Given the description of an element on the screen output the (x, y) to click on. 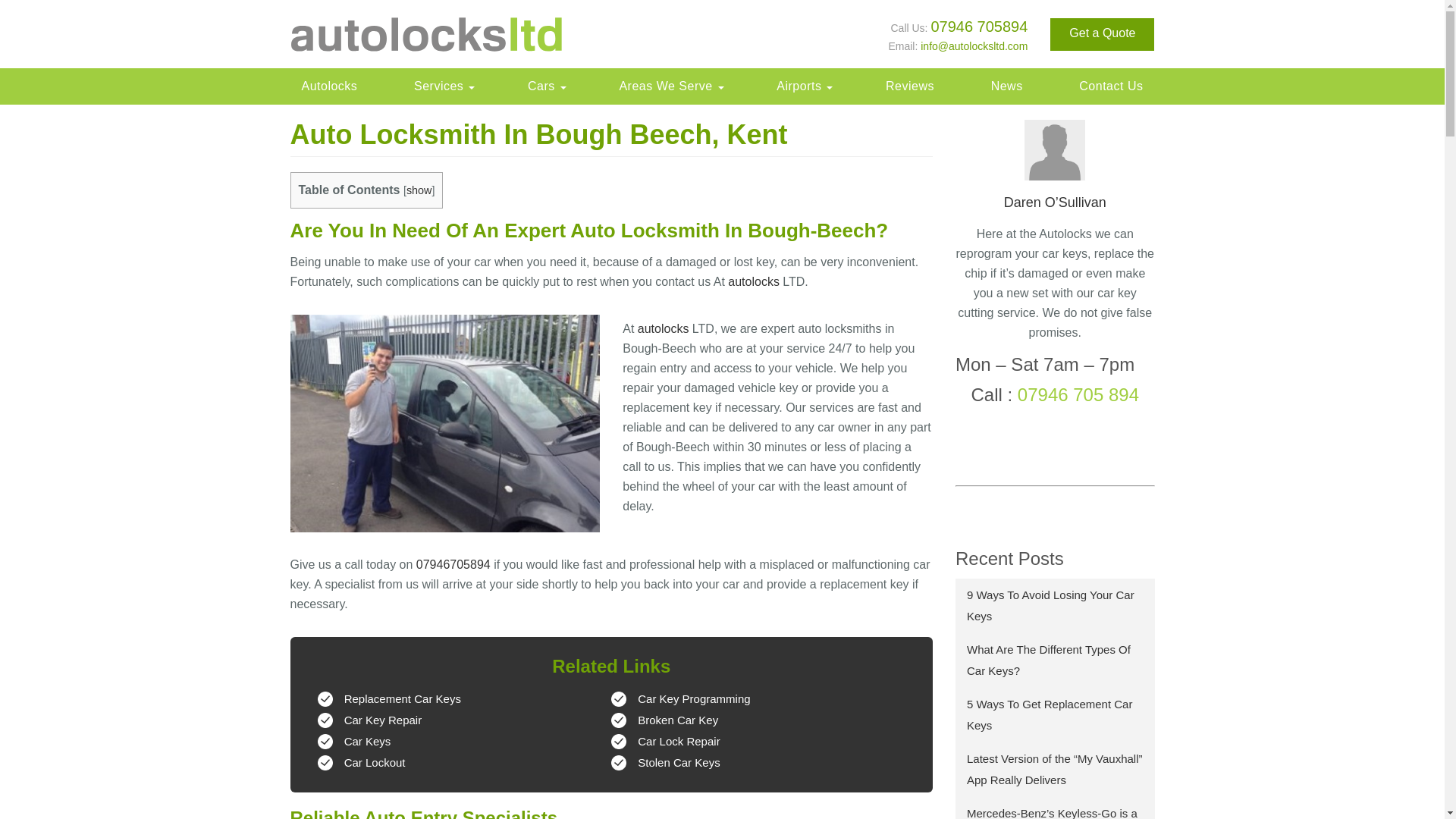
autolocks (753, 281)
Autolocks (328, 85)
autolocks (662, 328)
07946 705894 (978, 26)
Cars (544, 85)
Locksmiths London (328, 85)
Get a Quote (1101, 34)
Services (442, 85)
